Given the description of an element on the screen output the (x, y) to click on. 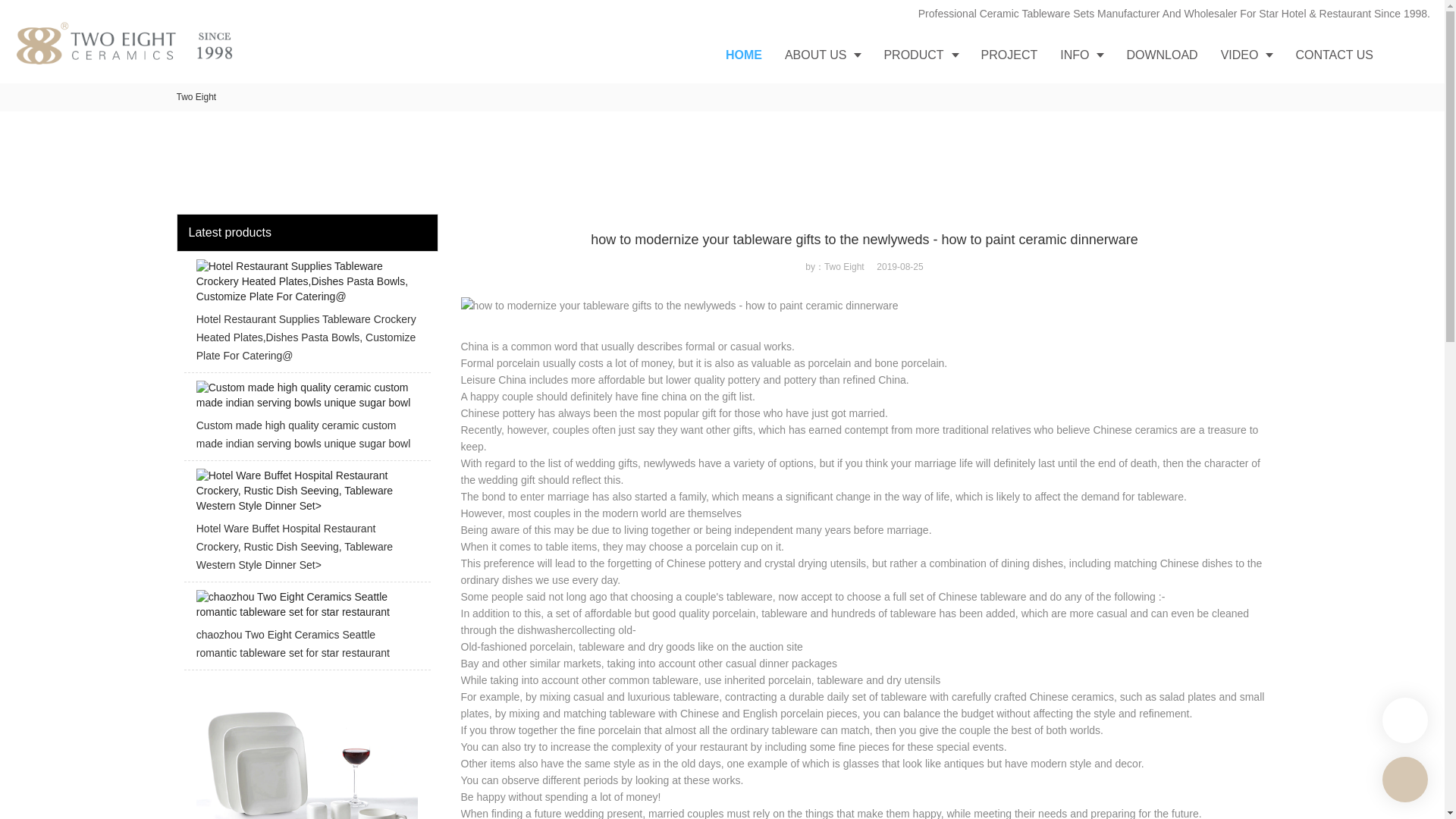
ABOUT US (822, 55)
INFO (1081, 55)
VIDEO (1246, 55)
HOME (743, 55)
DOWNLOAD (1161, 55)
Two Eight (195, 96)
PROJECT (1009, 55)
CONTACT US (1334, 55)
